Given the description of an element on the screen output the (x, y) to click on. 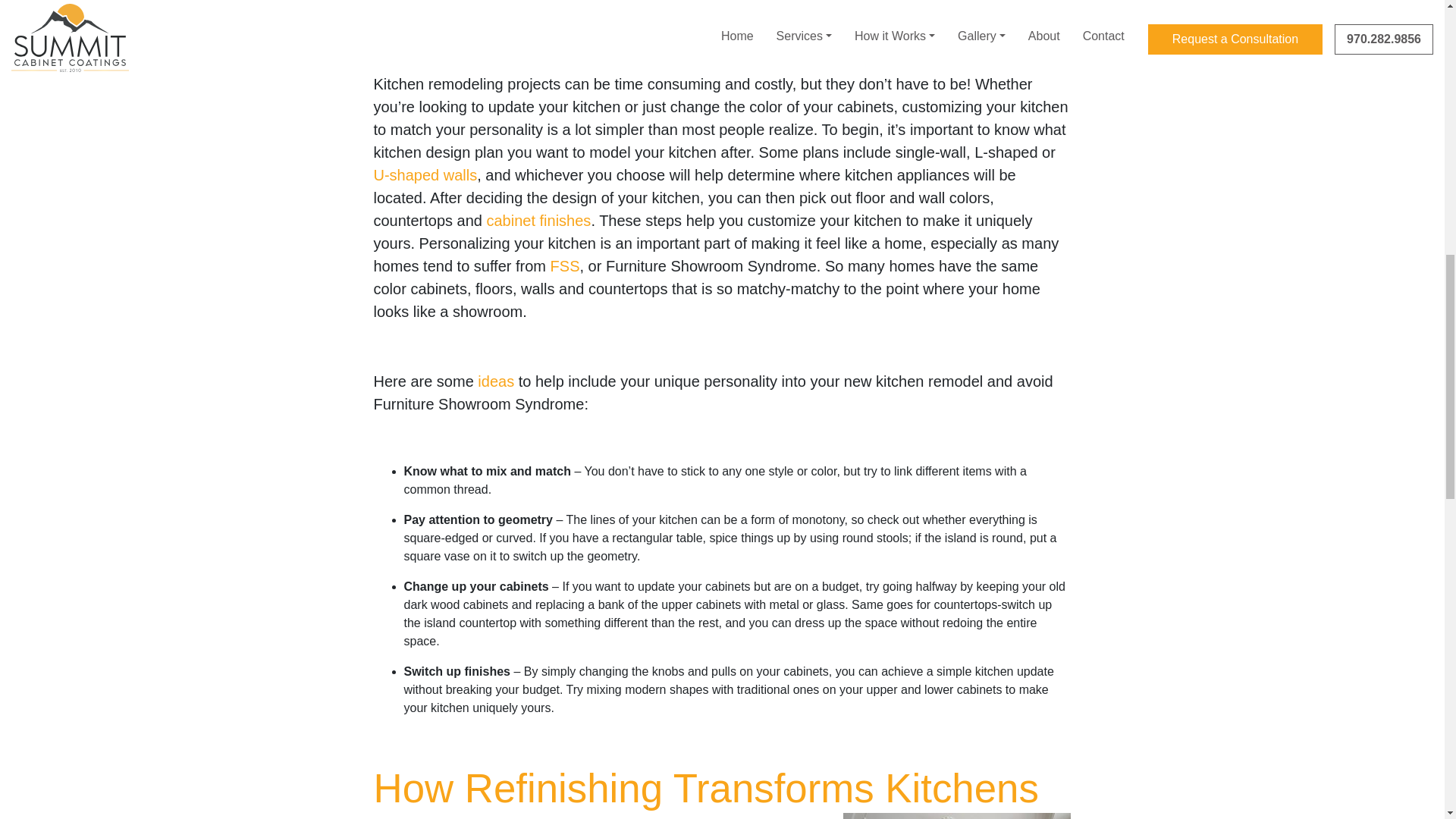
U-shaped walls (424, 175)
FSS (564, 265)
cabinet finishes (538, 220)
ideas (495, 381)
